Given the description of an element on the screen output the (x, y) to click on. 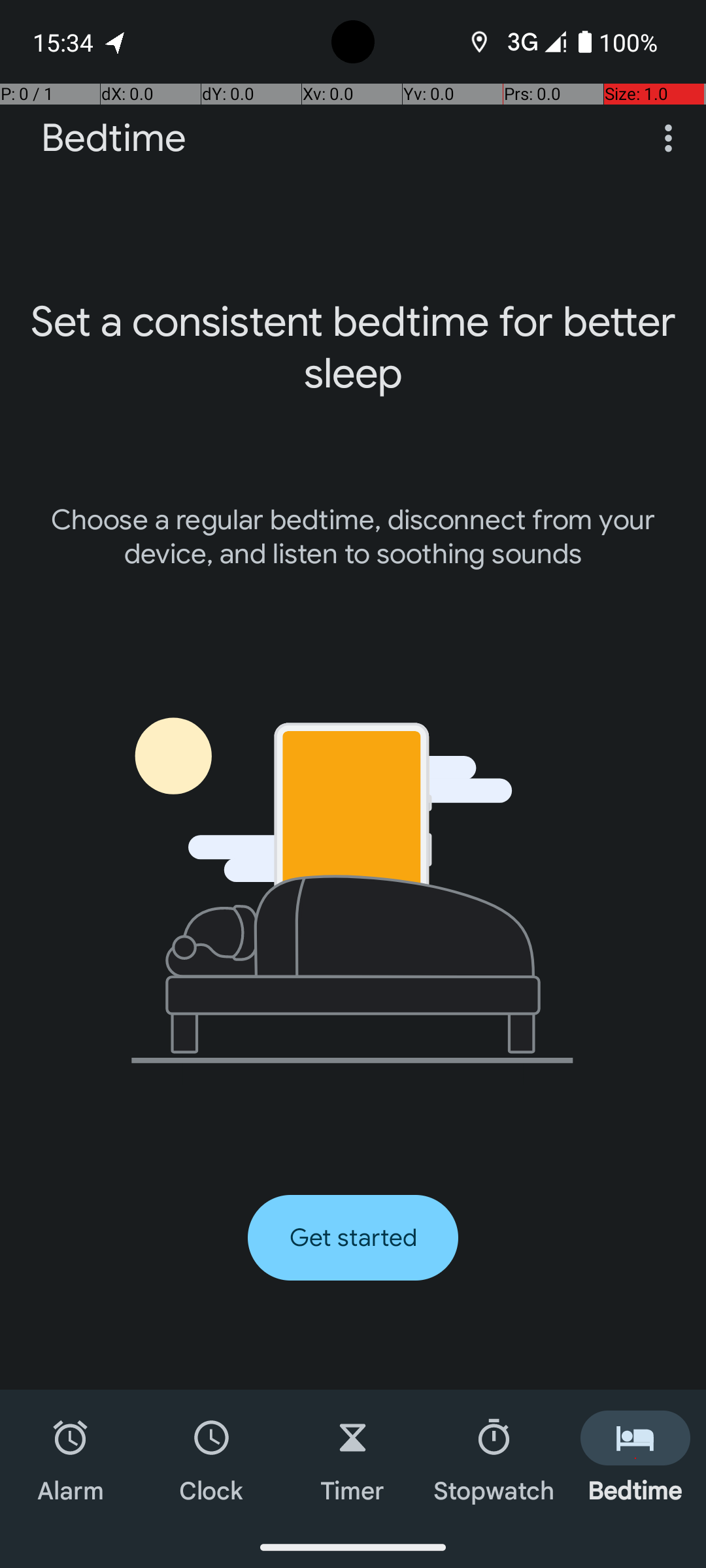
Set a consistent bedtime for better sleep Element type: android.widget.TextView (352, 347)
Choose a regular bedtime, disconnect from your device, and listen to soothing sounds Element type: android.widget.TextView (352, 536)
Get started Element type: android.widget.Button (352, 1237)
OpenTracks notification: Distance: 0.00 ft Element type: android.widget.ImageView (115, 41)
